Given the description of an element on the screen output the (x, y) to click on. 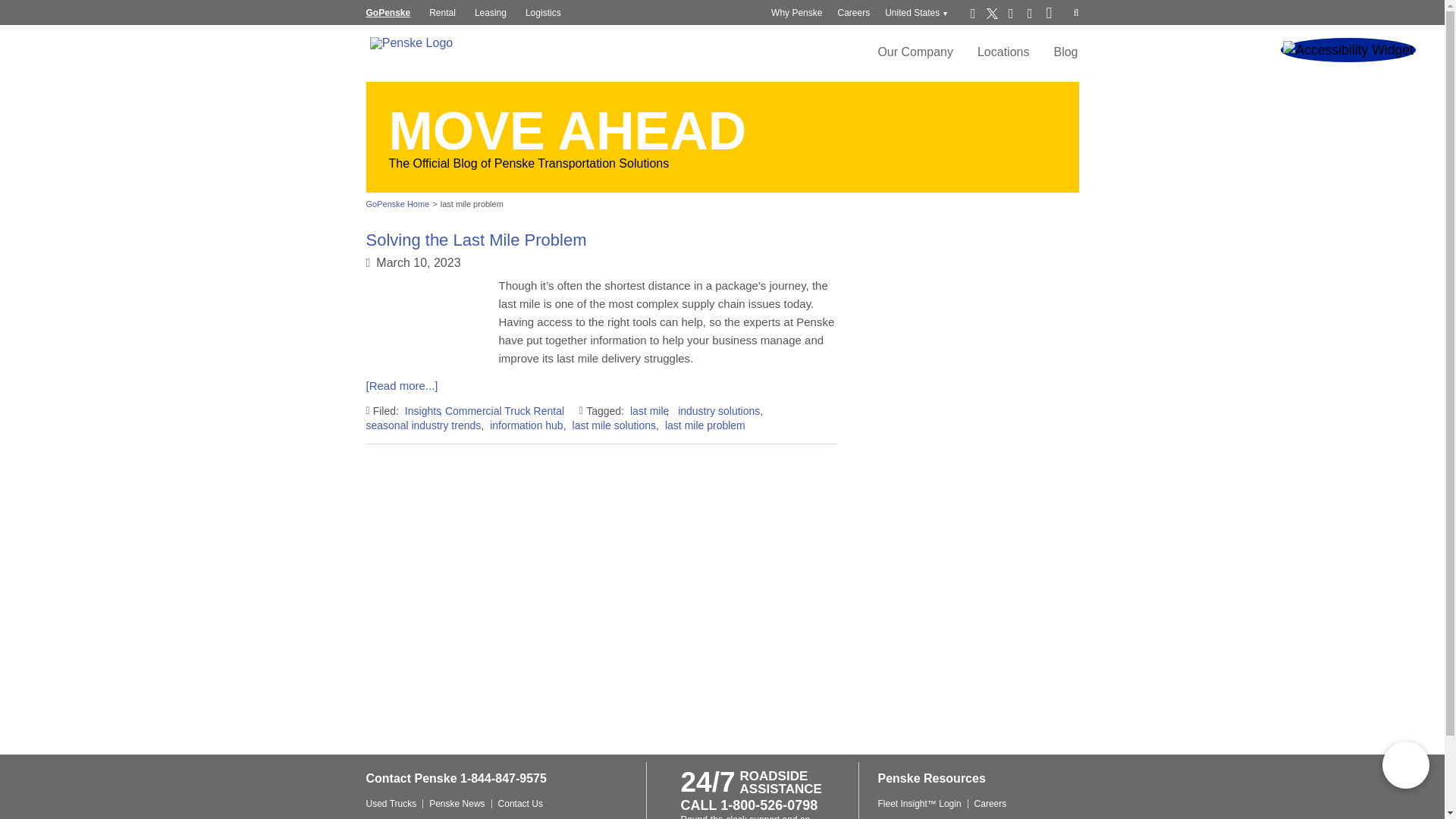
Toggle Search Bar (1076, 12)
